Given the description of an element on the screen output the (x, y) to click on. 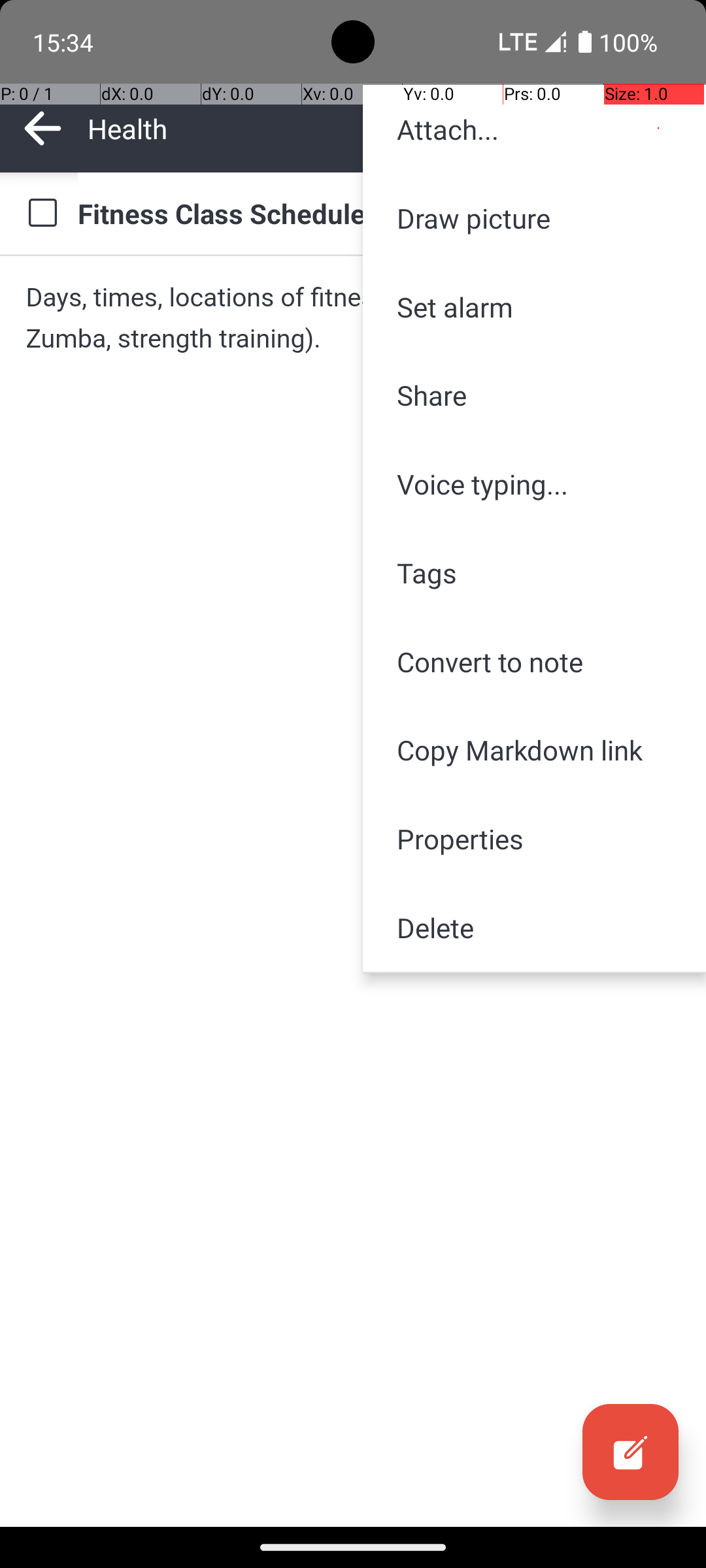
Set alarm Element type: android.widget.TextView (534, 306)
Convert to note Element type: android.widget.TextView (534, 661)
Days, times, locations of fitness classes (yoga, Pilates, Zumba, strength training). Element type: android.widget.TextView (352, 317)
